Given the description of an element on the screen output the (x, y) to click on. 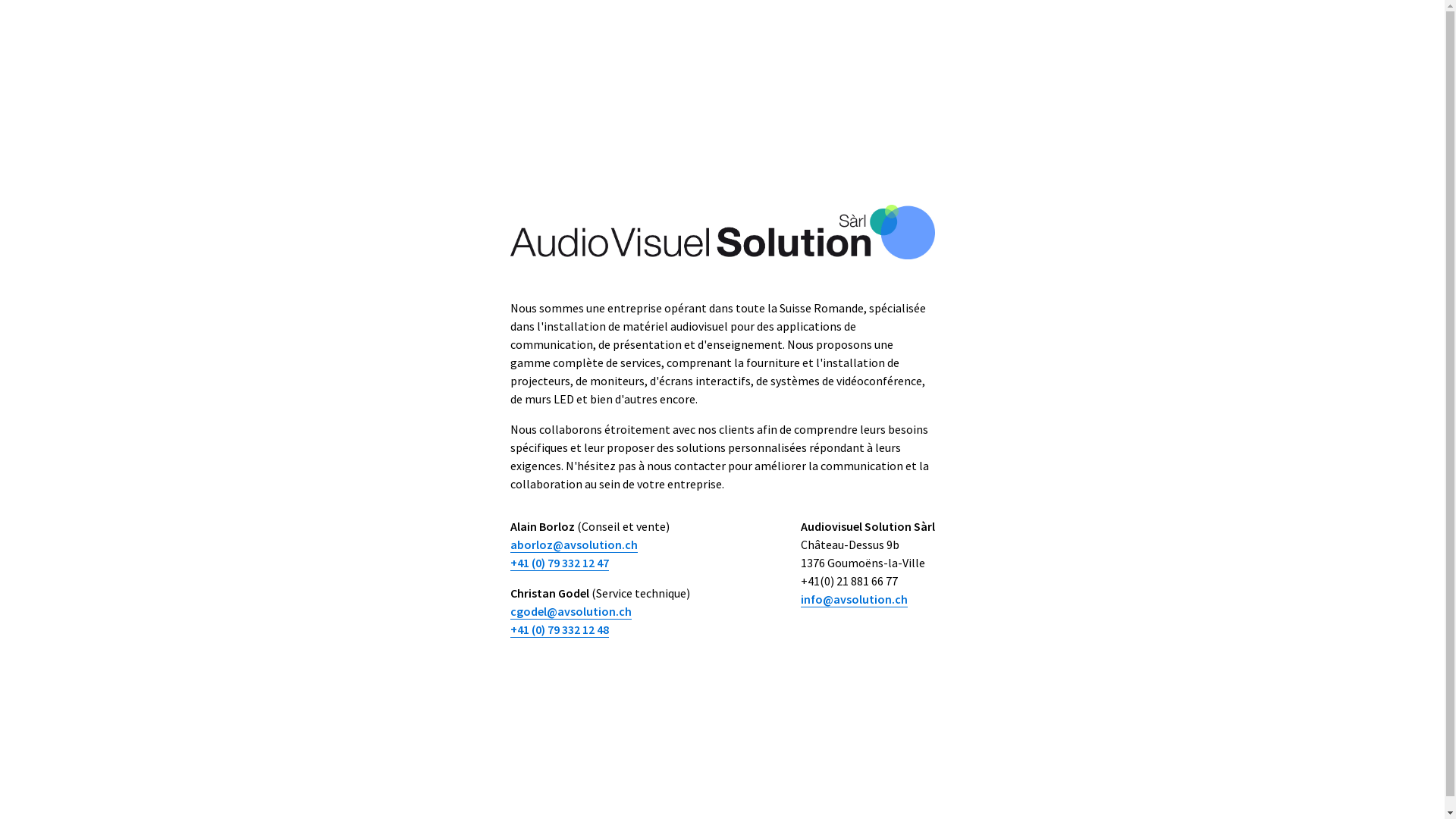
info@avsolution.ch Element type: text (853, 599)
cgodel@avsolution.ch Element type: text (569, 611)
aborloz@avsolution.ch Element type: text (573, 544)
+41 (0) 79 332 12 47 Element type: text (558, 563)
+41 (0) 79 332 12 48 Element type: text (558, 629)
